Given the description of an element on the screen output the (x, y) to click on. 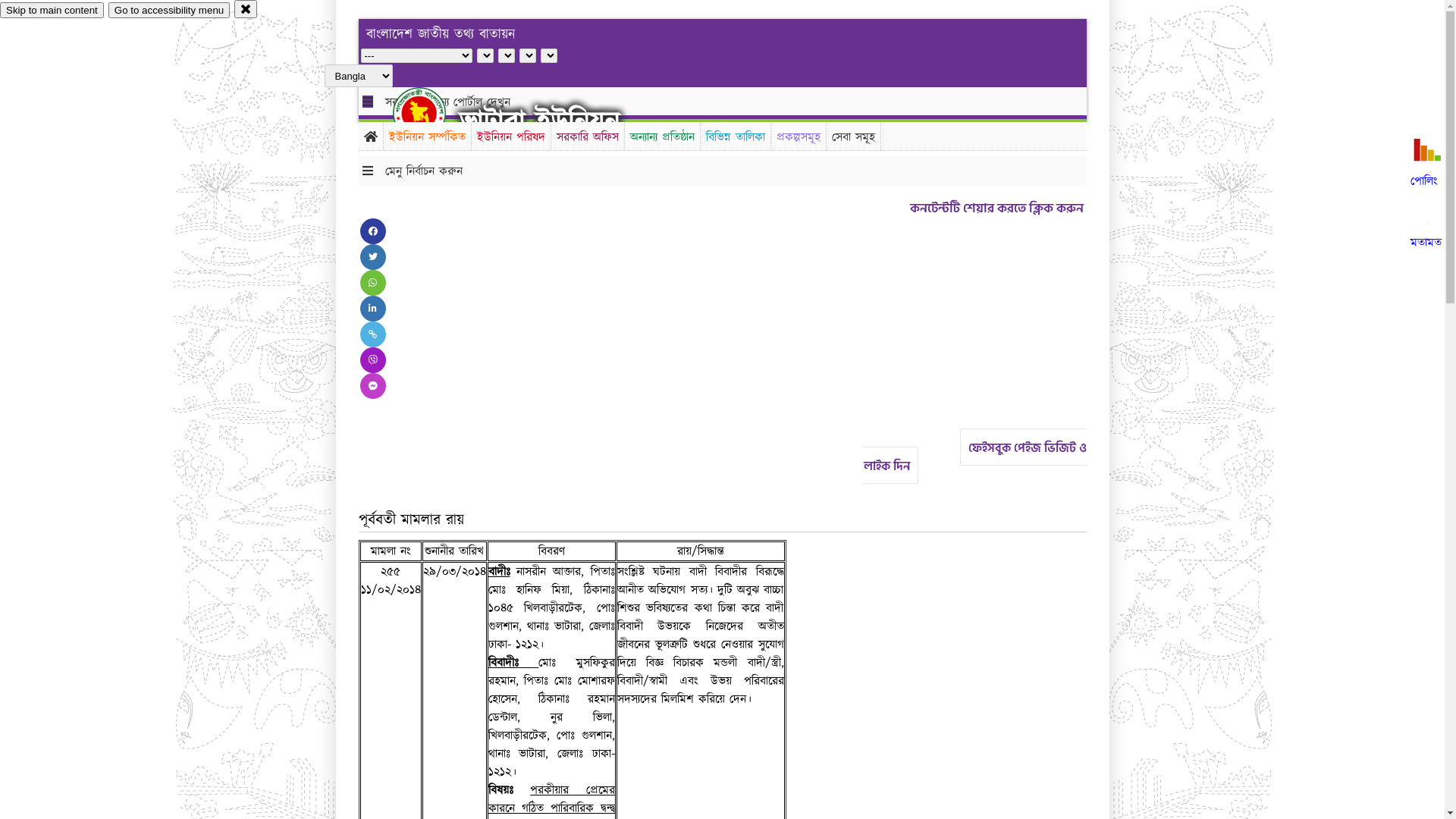
Go to accessibility menu Element type: text (168, 10)
Skip to main content Element type: text (51, 10)

                
             Element type: hover (431, 112)
close Element type: hover (245, 9)
